Given the description of an element on the screen output the (x, y) to click on. 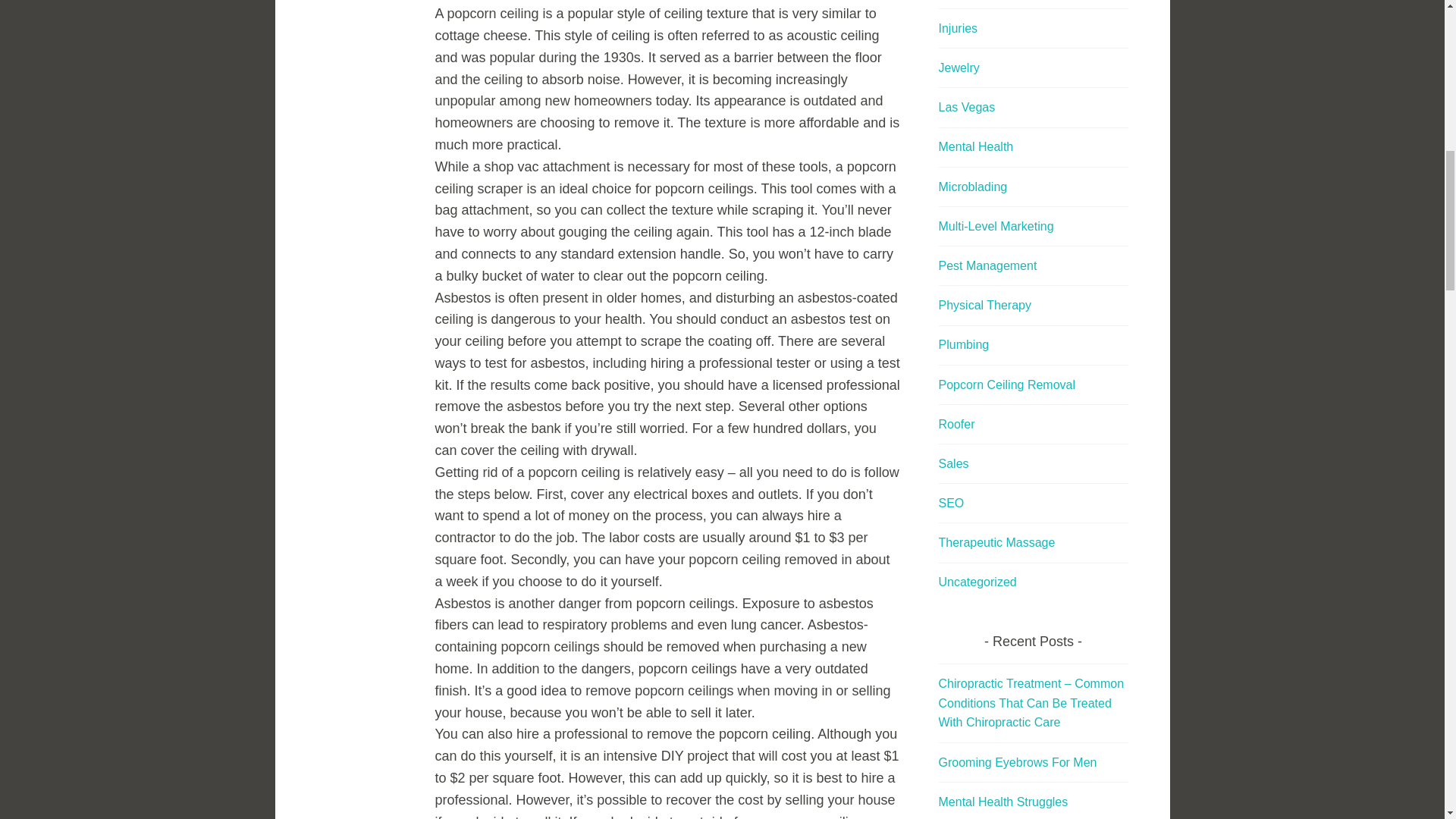
Pest Management (987, 265)
Plumbing (964, 344)
Injuries (958, 28)
Popcorn Ceiling Removal (1007, 384)
Jewelry (959, 67)
Multi-Level Marketing (996, 226)
Las Vegas (967, 106)
Microblading (973, 186)
Physical Therapy (984, 305)
Mental Health (976, 146)
